Given the description of an element on the screen output the (x, y) to click on. 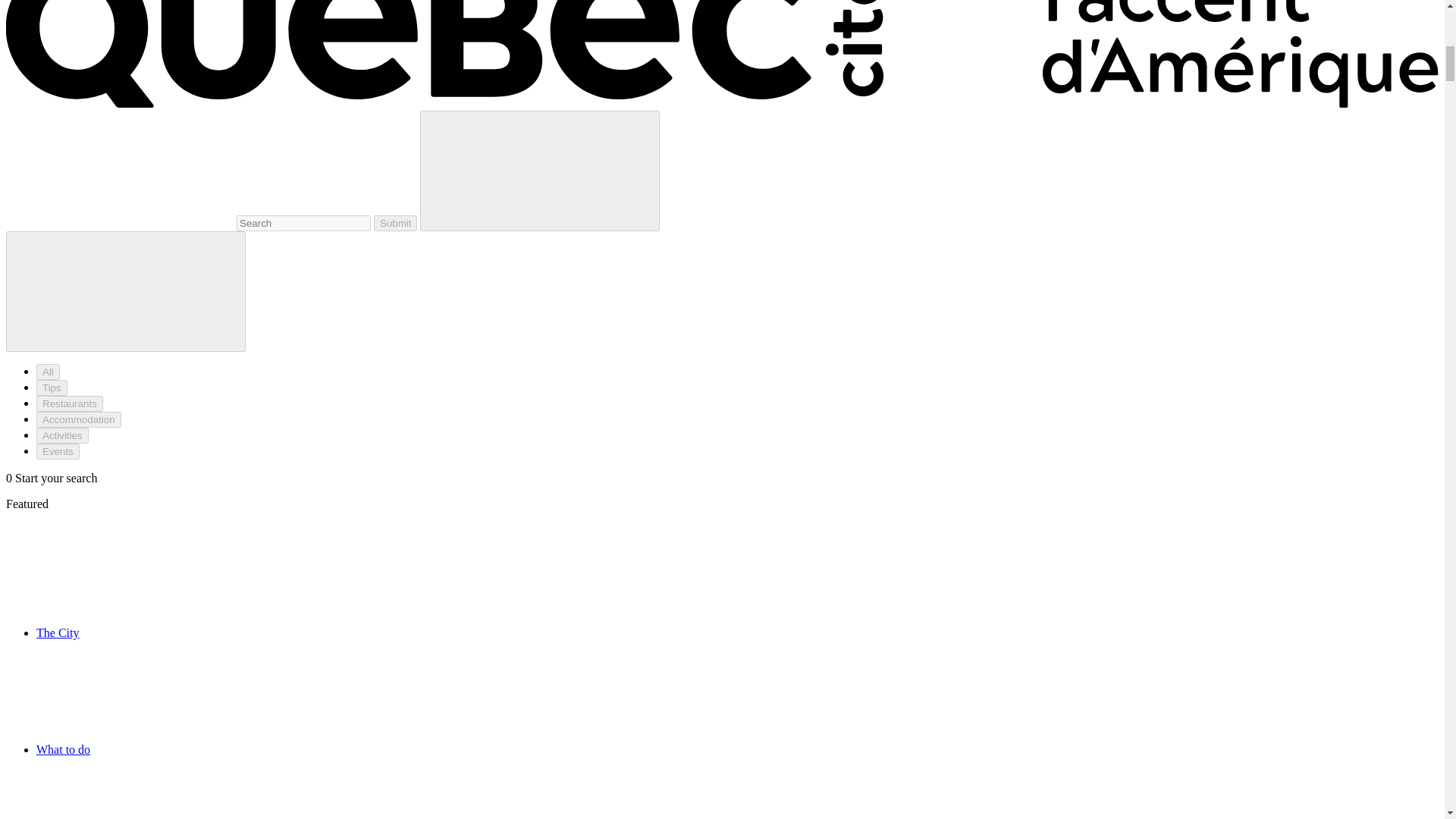
Tips (51, 387)
Submit (395, 222)
The City (170, 632)
Events (58, 451)
Submit (395, 222)
Restaurants (69, 403)
What to do (176, 748)
Accommodation (78, 419)
All (47, 371)
Activities (62, 435)
